Given the description of an element on the screen output the (x, y) to click on. 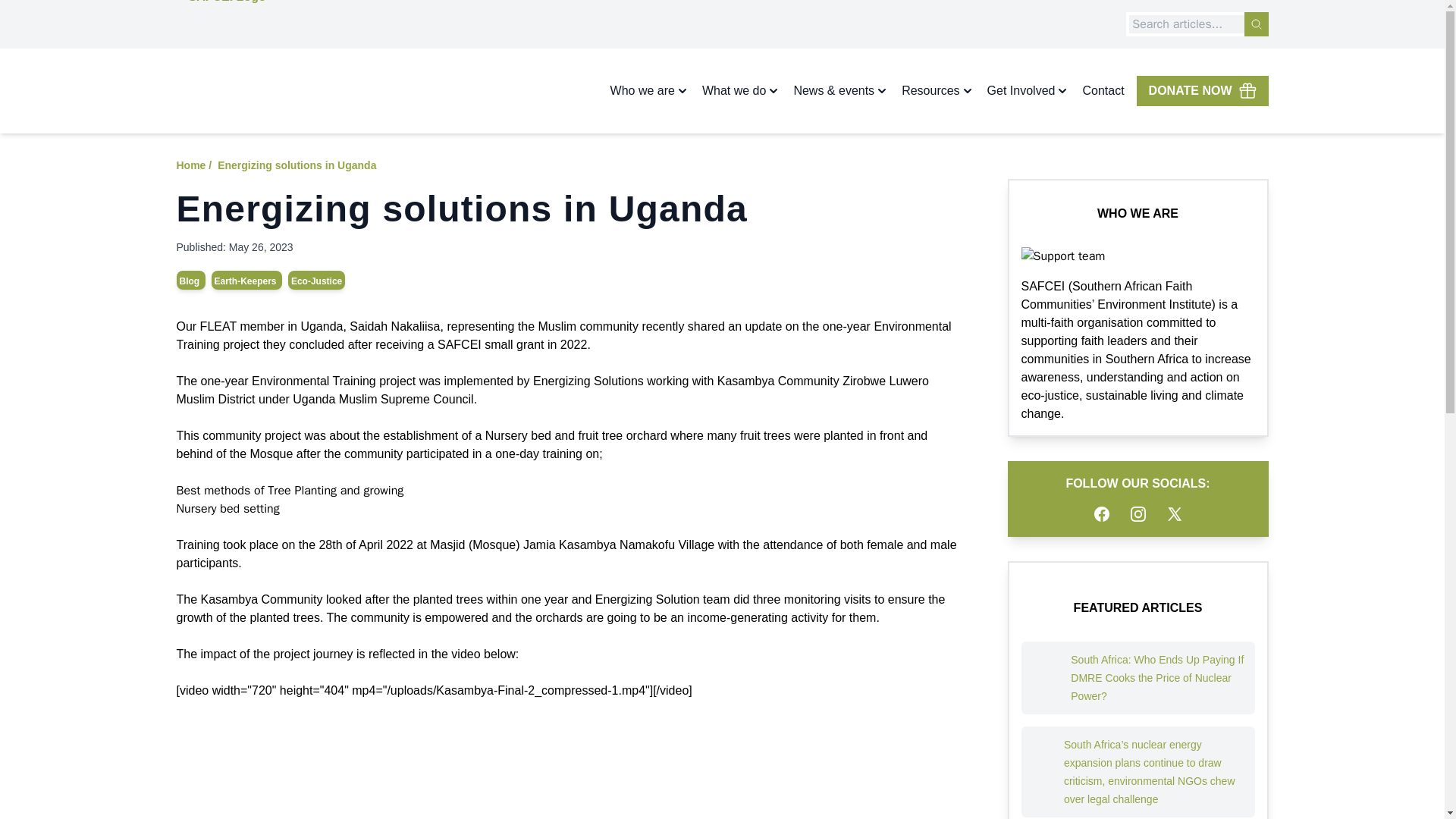
Contact (1102, 90)
Resources (937, 91)
DONATE NOW (1202, 91)
What we do (740, 91)
Who we are (650, 91)
Get Involved (1028, 91)
